Given the description of an element on the screen output the (x, y) to click on. 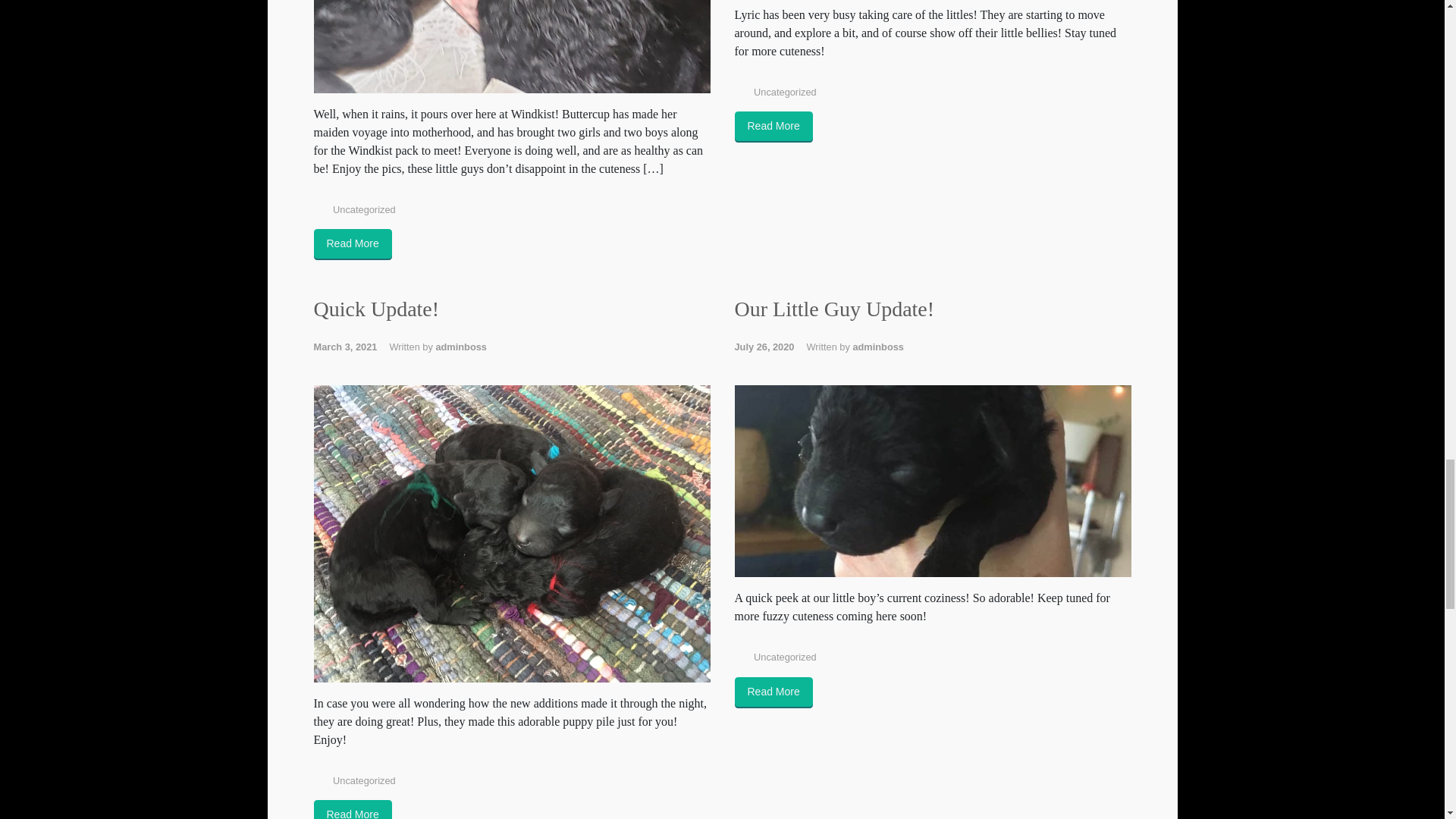
View all posts by adminboss (877, 346)
View all posts by adminboss (460, 346)
